Given the description of an element on the screen output the (x, y) to click on. 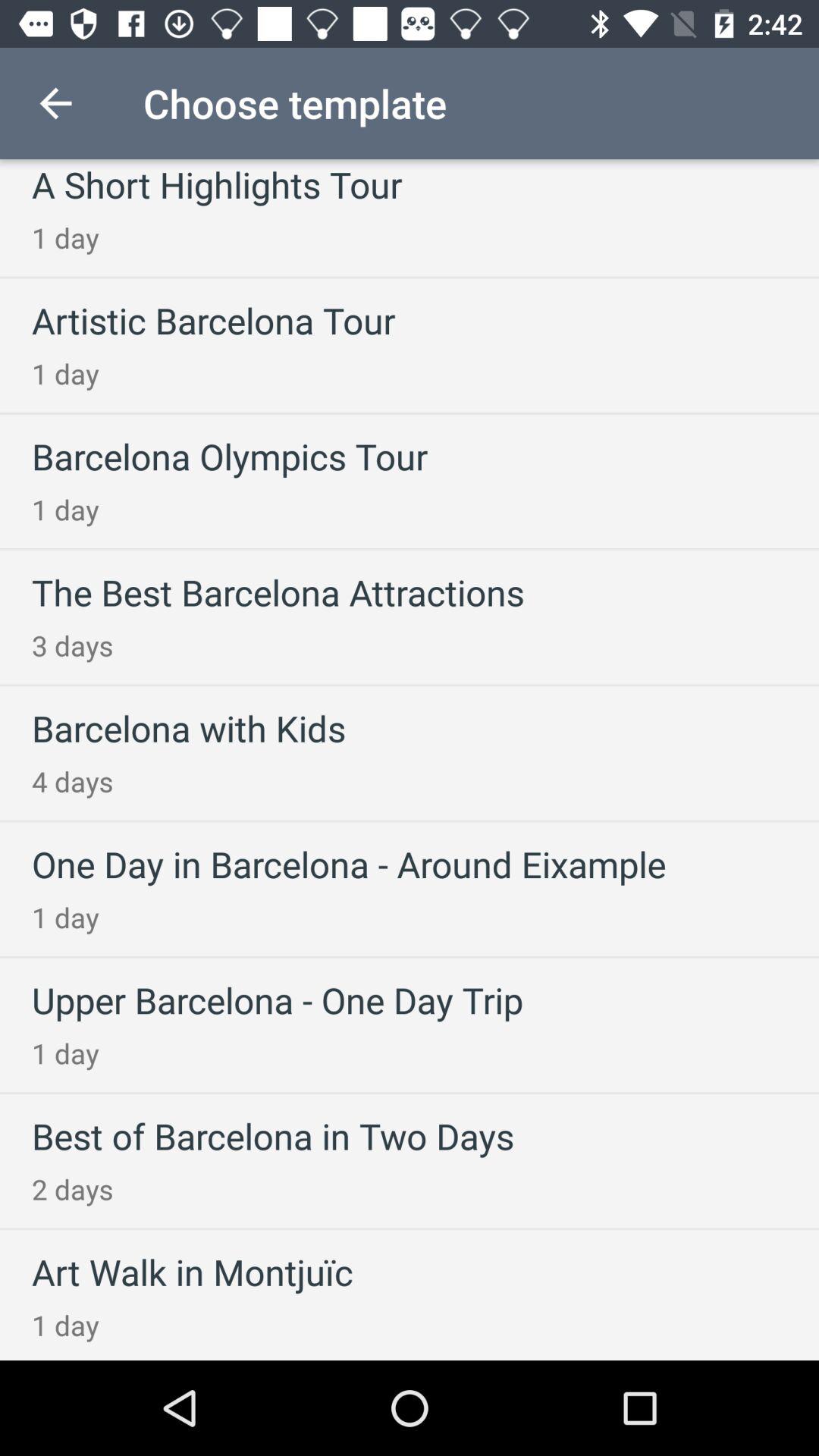
turn on icon next to the choose template icon (55, 103)
